Given the description of an element on the screen output the (x, y) to click on. 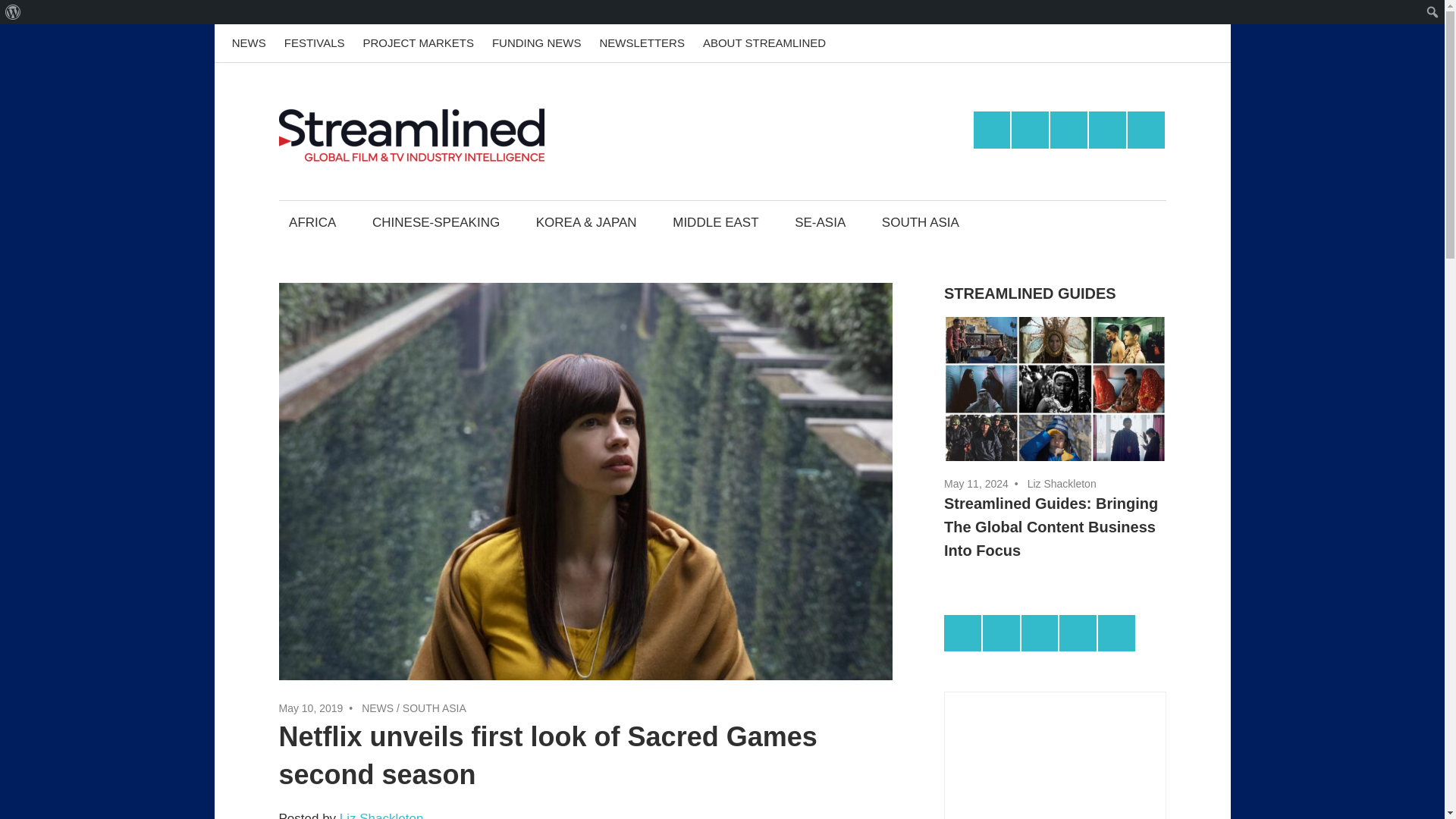
View all posts by Liz Shackleton (1061, 483)
Instagram (1107, 129)
NEWSLETTERS (641, 43)
PROJECT MARKETS (417, 43)
View all posts from category STREAMLINED GUIDES (1029, 293)
MIDDLE EAST (716, 221)
AFRICA (313, 221)
Facebook (1054, 43)
4:46 pm (976, 483)
Instagram (1167, 43)
NEWS (248, 43)
4:35 pm (311, 707)
Twitter (1029, 129)
Liz Shackleton (381, 815)
Search (15, 12)
